Given the description of an element on the screen output the (x, y) to click on. 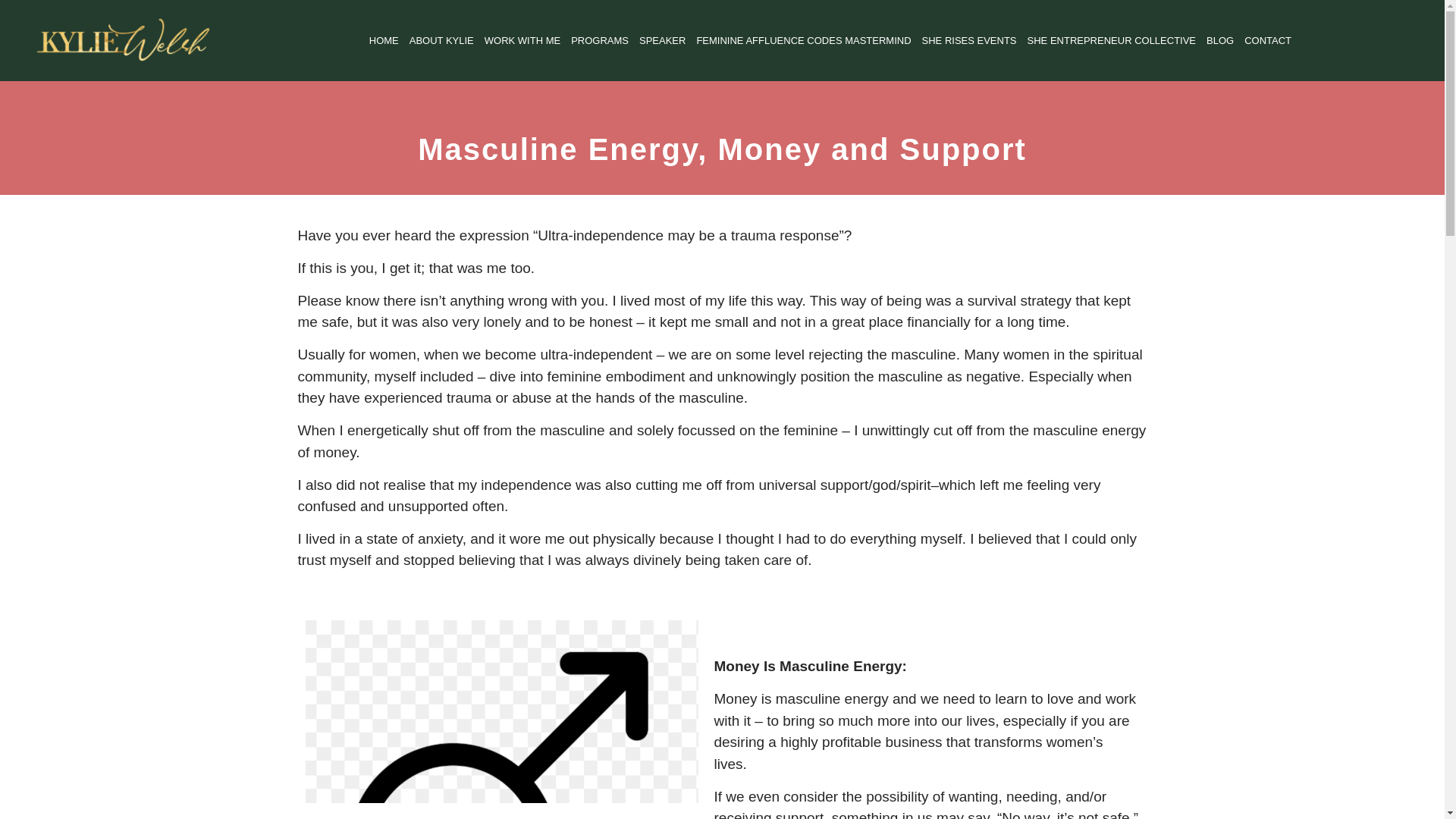
HOME (384, 40)
SPEAKER (661, 40)
PROGRAMS (599, 40)
SHE ENTREPRENEUR COLLECTIVE (1112, 40)
SHE RISES EVENTS (969, 40)
FEMININE AFFLUENCE CODES MASTERMIND (802, 40)
CONTACT (1268, 40)
ABOUT KYLIE (441, 40)
BLOG (1220, 40)
WORK WITH ME (522, 40)
